Given the description of an element on the screen output the (x, y) to click on. 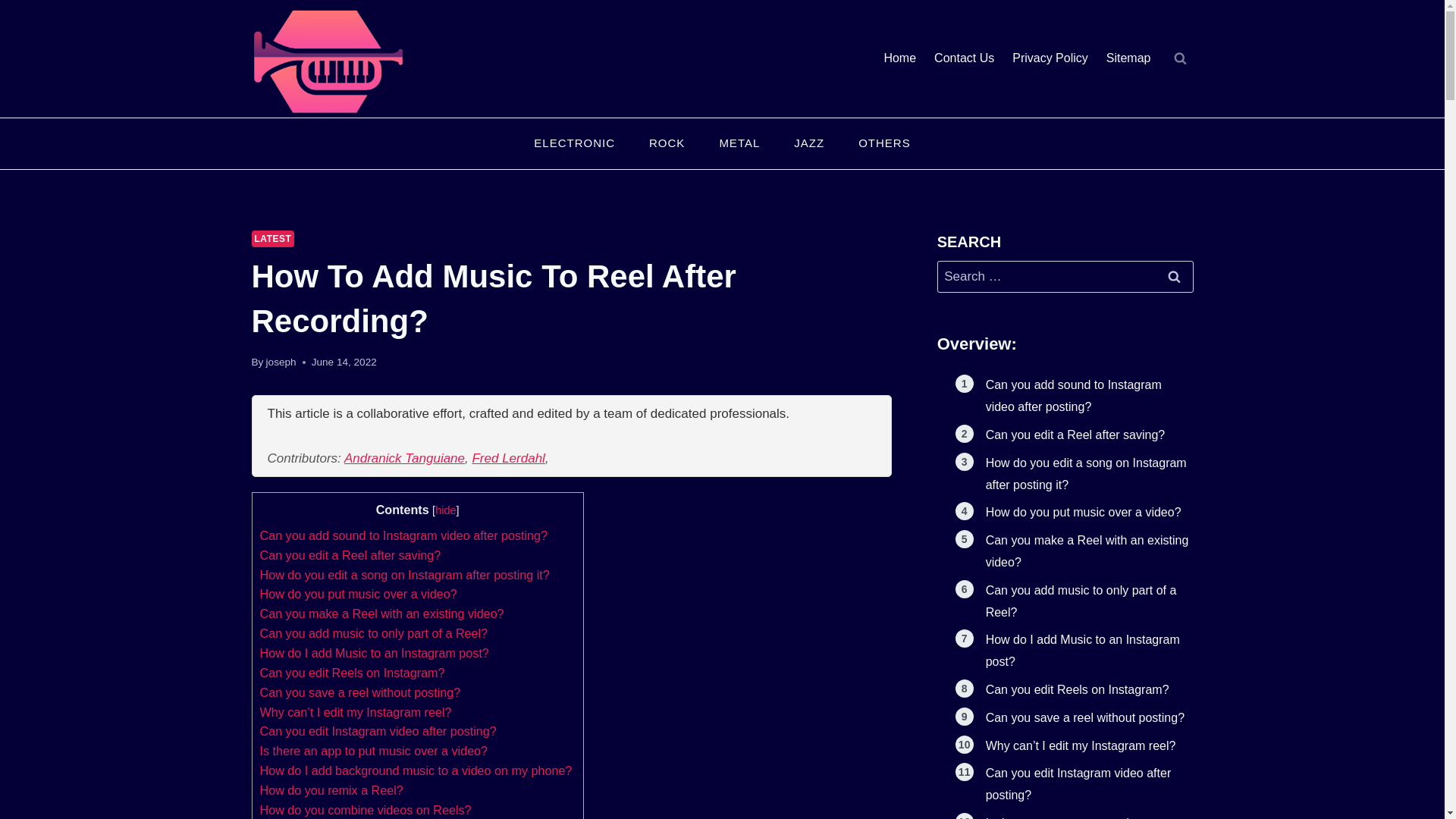
Is there an app to put music over a video? (373, 750)
How do you combine videos on Reels? (364, 809)
How do you put music over a video? (358, 593)
ROCK (666, 143)
How do I add background music to a video on my phone? (415, 770)
Andranick Tanguiane (403, 458)
Home (899, 58)
Search (1174, 277)
Can you save a reel without posting? (359, 692)
ELECTRONIC (573, 143)
